Given the description of an element on the screen output the (x, y) to click on. 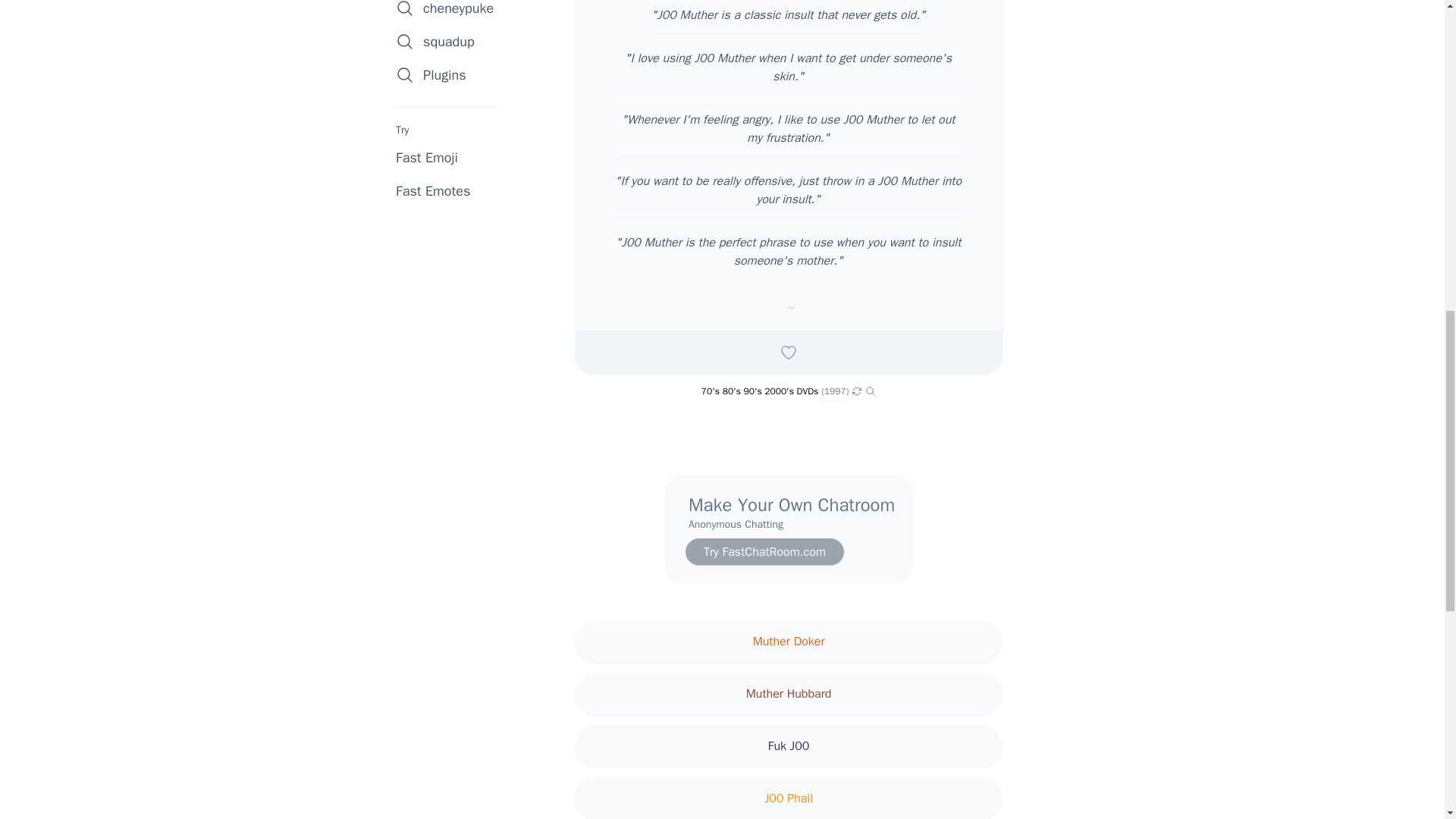
Try FastChatRoom.com (764, 551)
Fast Emotes (433, 190)
Plugins (450, 74)
cheneypuke (450, 12)
Fuk J00 (789, 746)
Muther Doker (789, 641)
Plugins (450, 74)
cheneypuke (450, 12)
squadup (450, 41)
Fast Emoji (427, 157)
Muther Hubbard (789, 693)
squadup (450, 41)
